Given the description of an element on the screen output the (x, y) to click on. 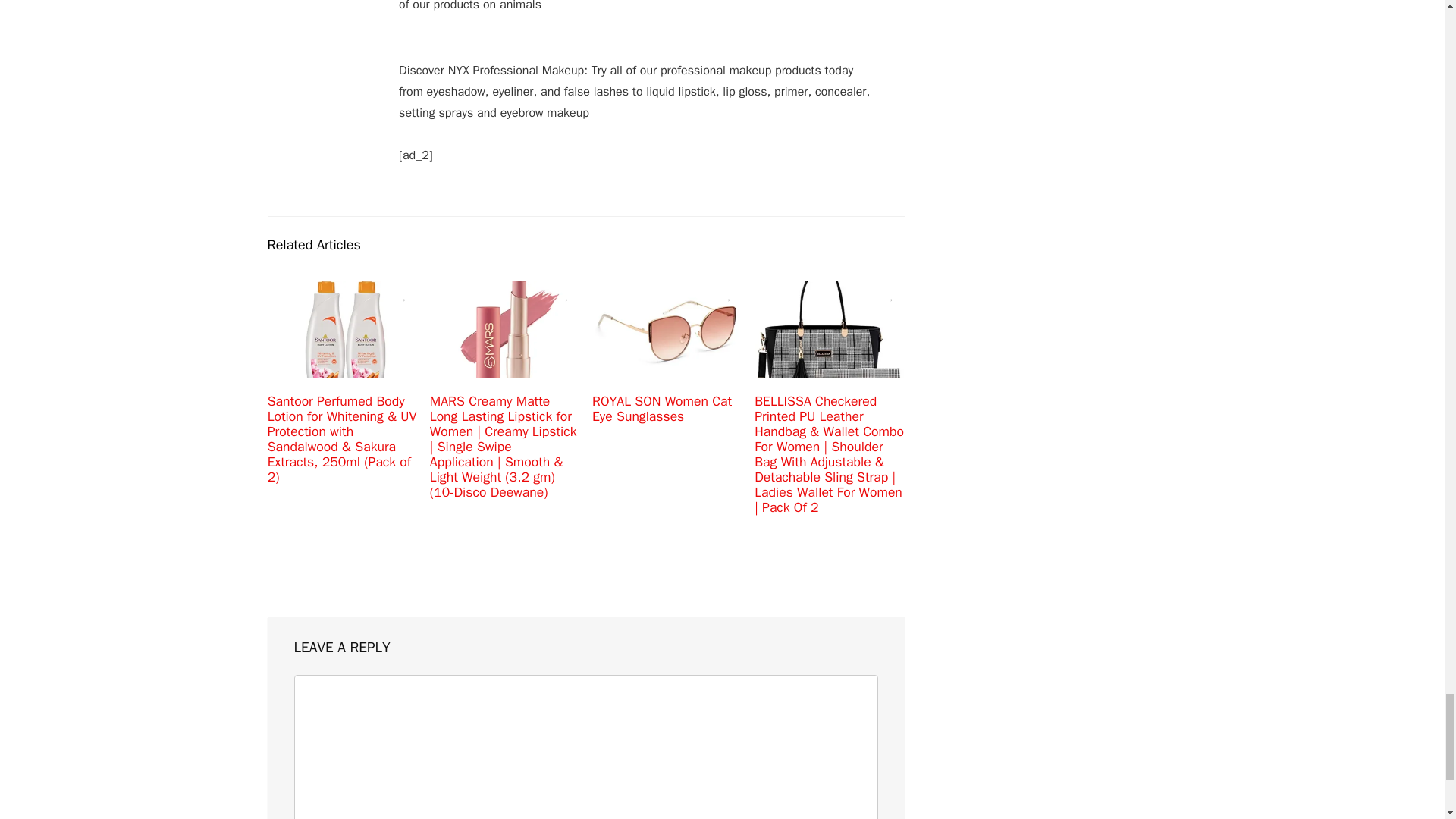
ROYAL SON Women Cat Eye Sunglasses (662, 409)
